Given the description of an element on the screen output the (x, y) to click on. 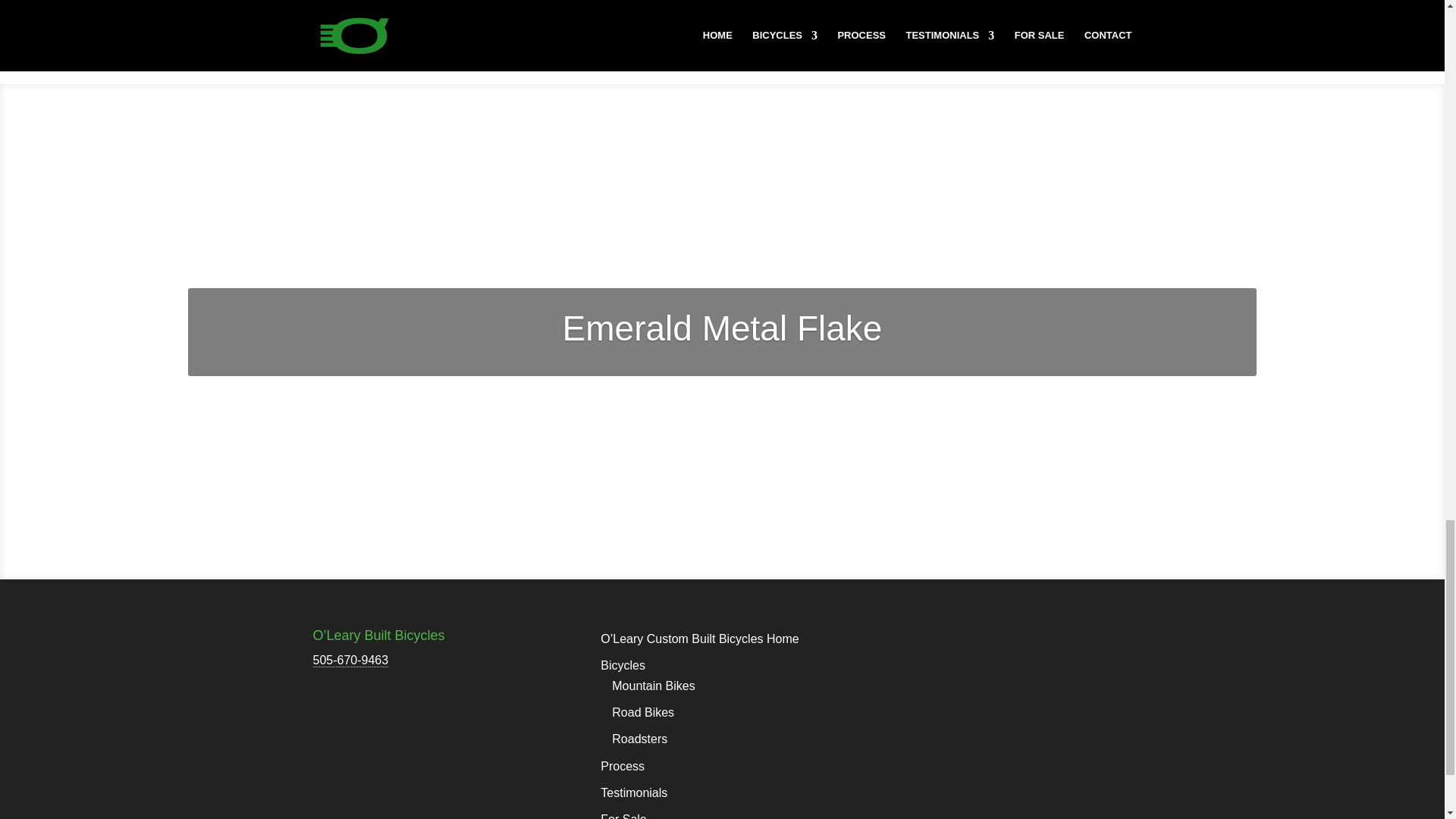
Bicycles (622, 665)
505-670-9463 (350, 660)
Mountain Bikes (652, 685)
